Given the description of an element on the screen output the (x, y) to click on. 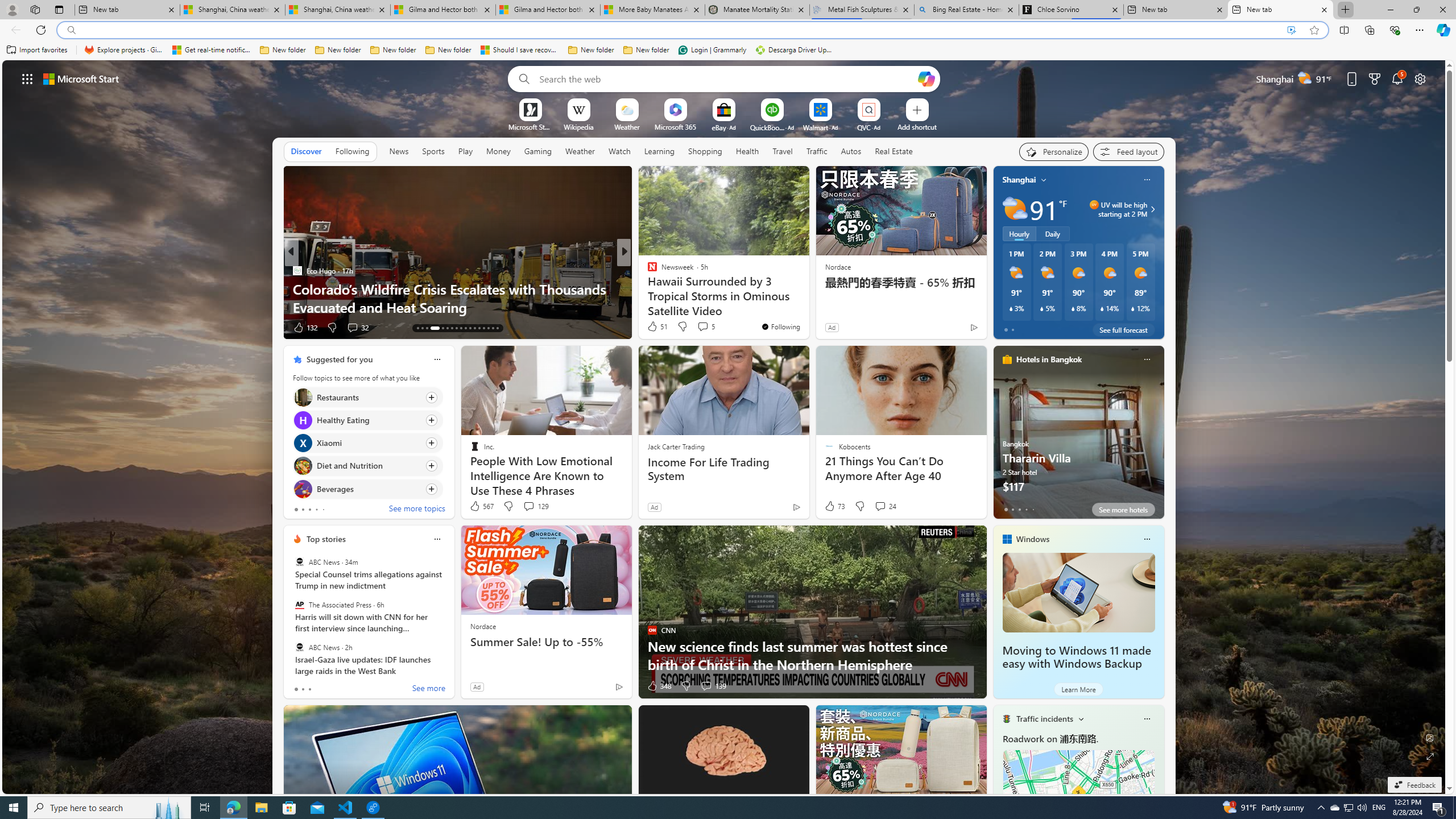
View comments 5 Comment (705, 326)
